Given the description of an element on the screen output the (x, y) to click on. 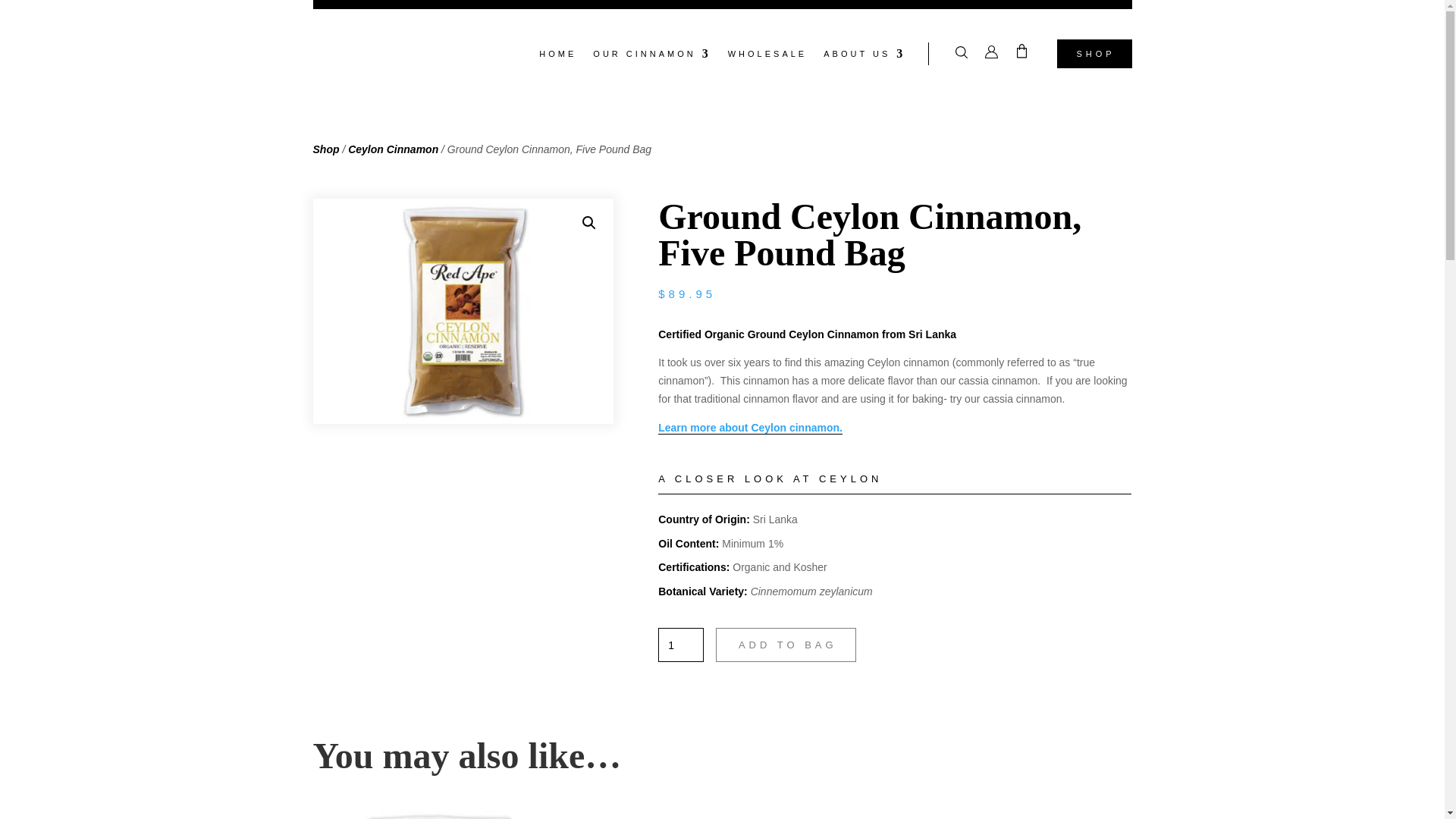
WHOLESALE (767, 56)
OUR CINNAMON (651, 56)
ogcc-5lb (462, 311)
HOME (557, 56)
SHOP (1094, 53)
1 (680, 644)
ABOUT US (864, 56)
